Given the description of an element on the screen output the (x, y) to click on. 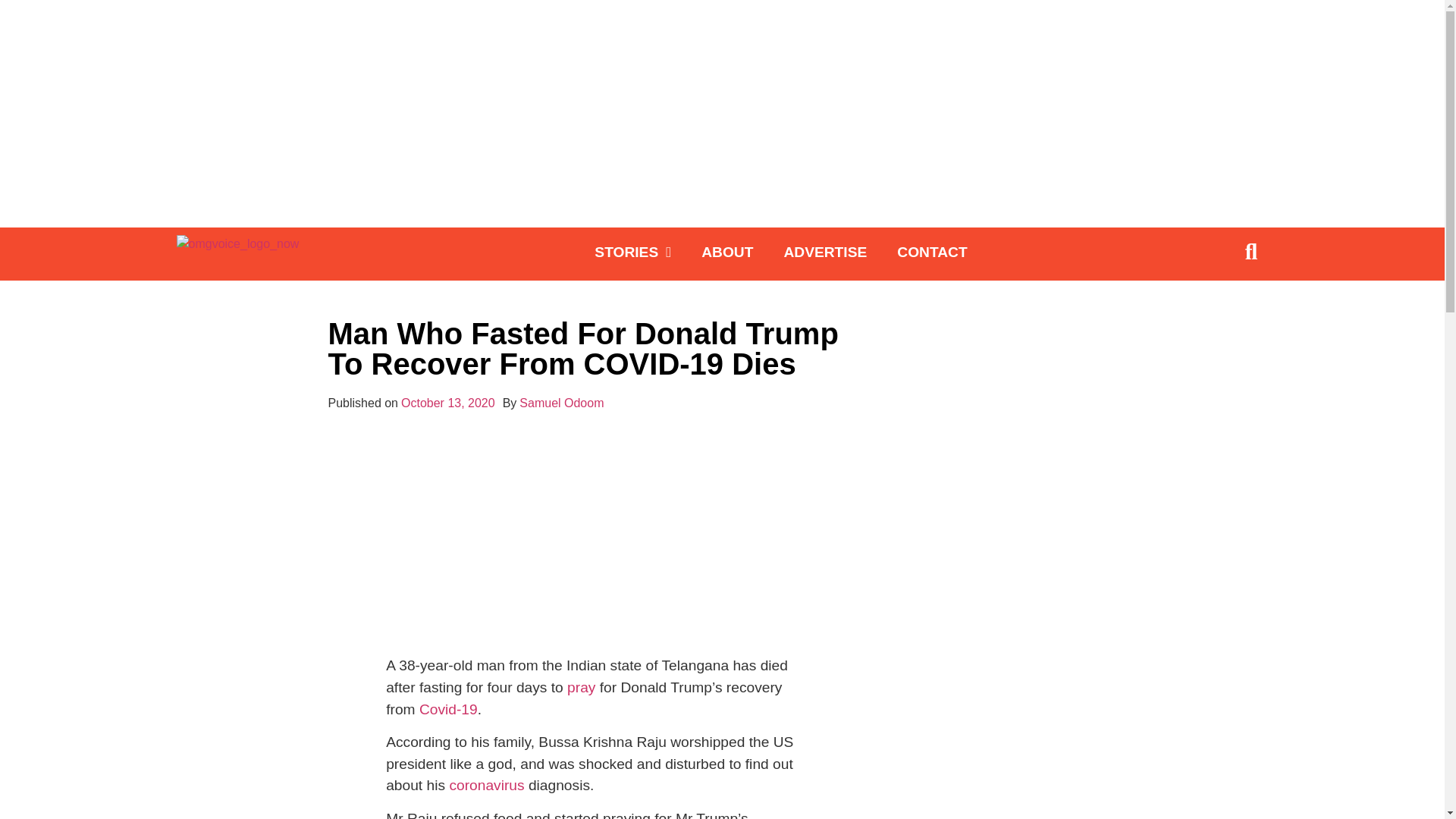
pray (581, 687)
Samuel Odoom (561, 402)
ADVERTISE (825, 252)
STORIES (632, 252)
CONTACT (931, 252)
ABOUT (726, 252)
October 13, 2020 (448, 402)
coronavirus (486, 785)
Covid-19 (448, 709)
